Given the description of an element on the screen output the (x, y) to click on. 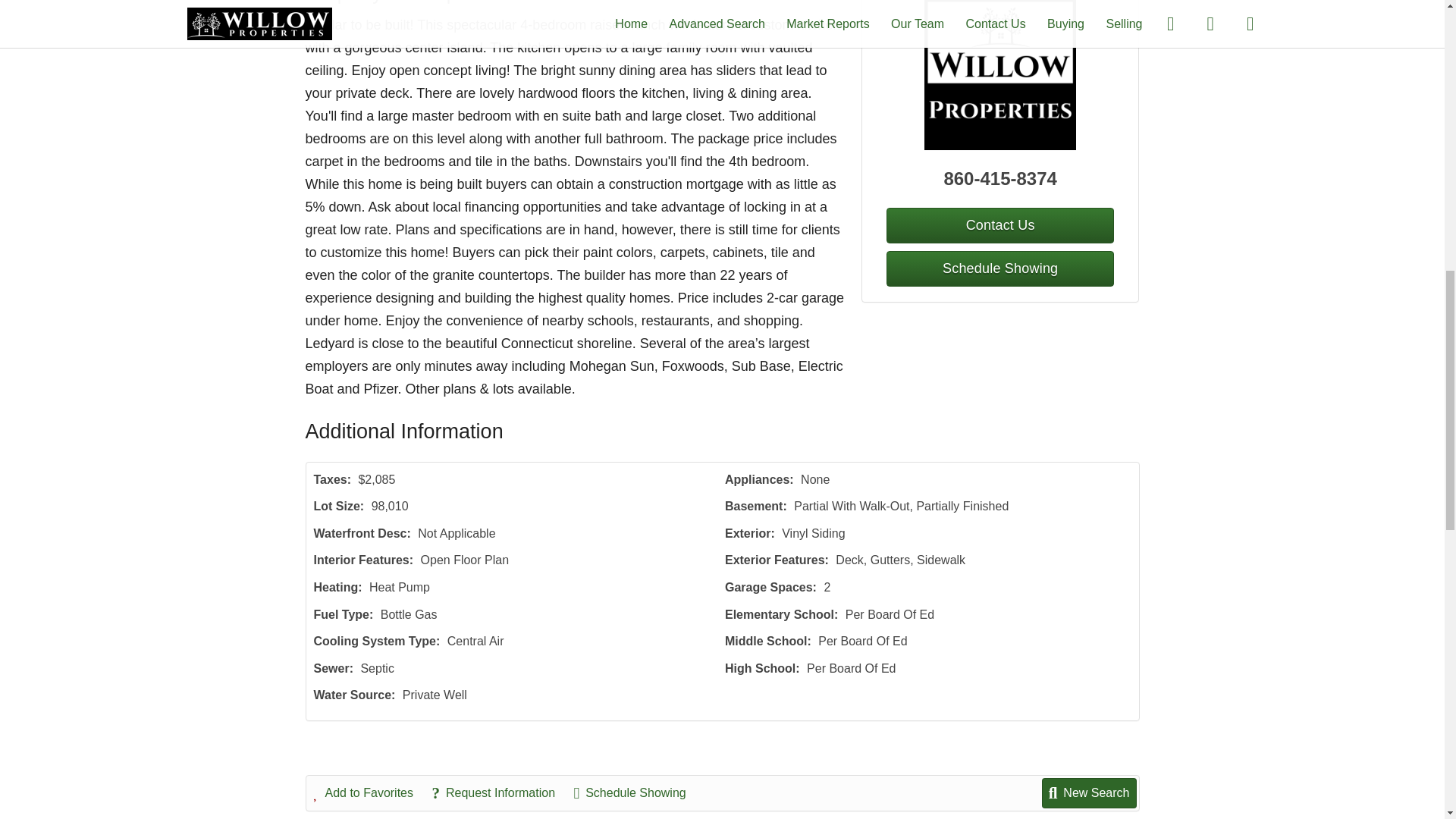
Contact Us (999, 225)
860-415-8374 (1000, 178)
